Given the description of an element on the screen output the (x, y) to click on. 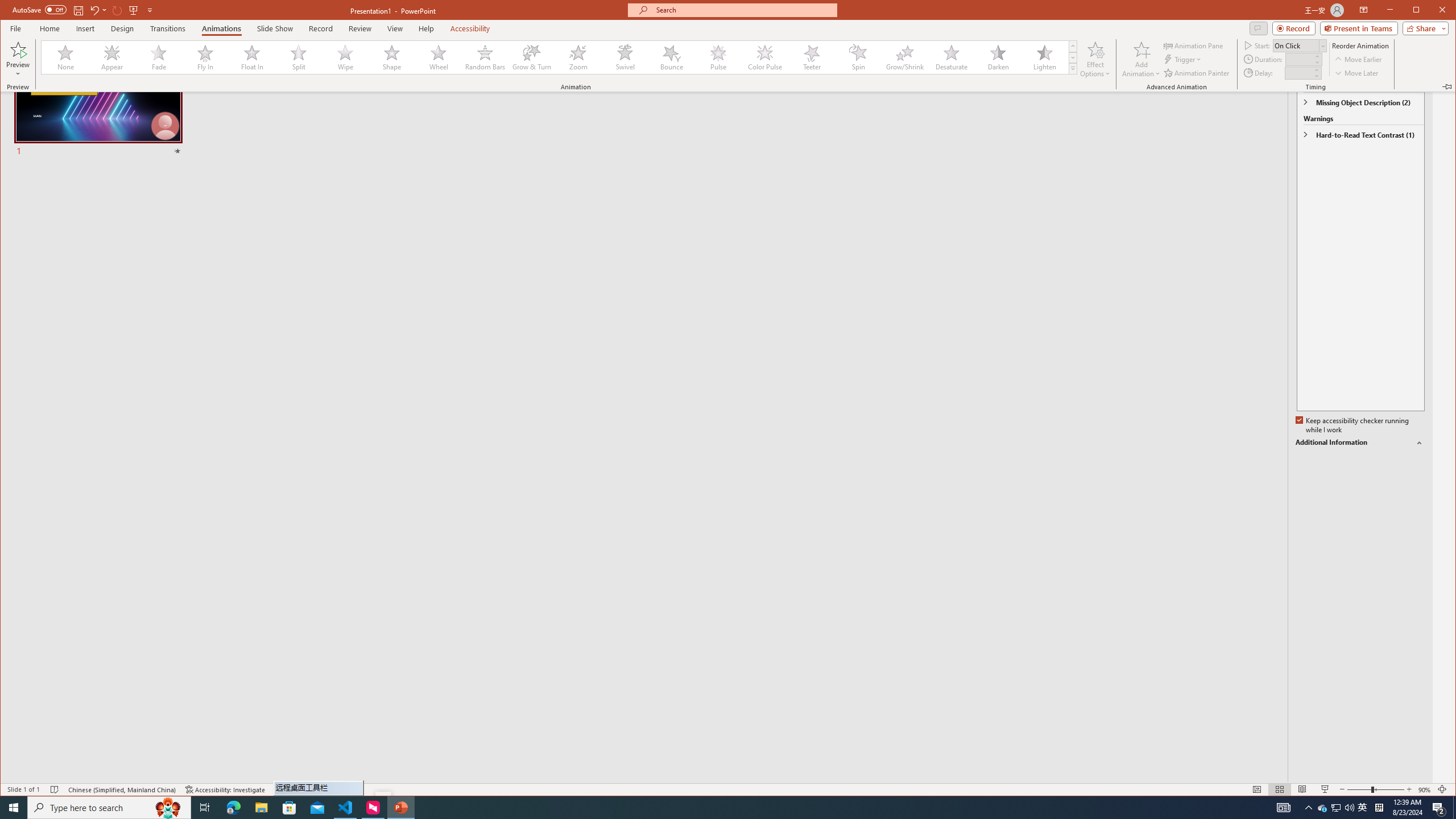
Transitions (1362, 807)
Microsoft Store (1335, 807)
Type here to search (167, 28)
Visual Studio Code - 1 running window (289, 807)
Zoom Out (108, 807)
Accessibility (345, 807)
Animations (1358, 789)
User Promoted Notification Area (469, 28)
Comments (221, 28)
